Given the description of an element on the screen output the (x, y) to click on. 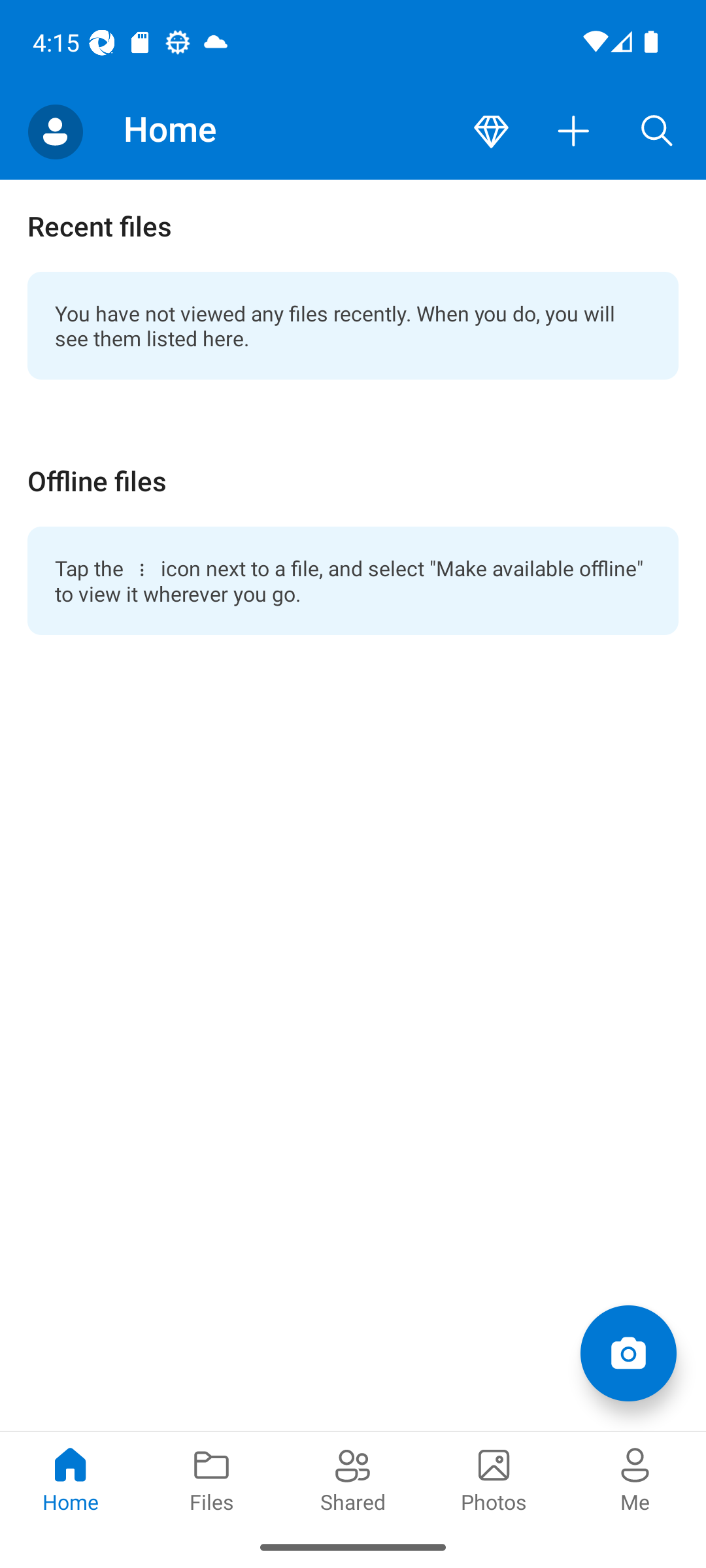
Account switcher (55, 131)
Premium button (491, 131)
More actions button (574, 131)
Search button (656, 131)
Scan (628, 1352)
Files pivot Files (211, 1478)
Shared pivot Shared (352, 1478)
Photos pivot Photos (493, 1478)
Me pivot Me (635, 1478)
